Given the description of an element on the screen output the (x, y) to click on. 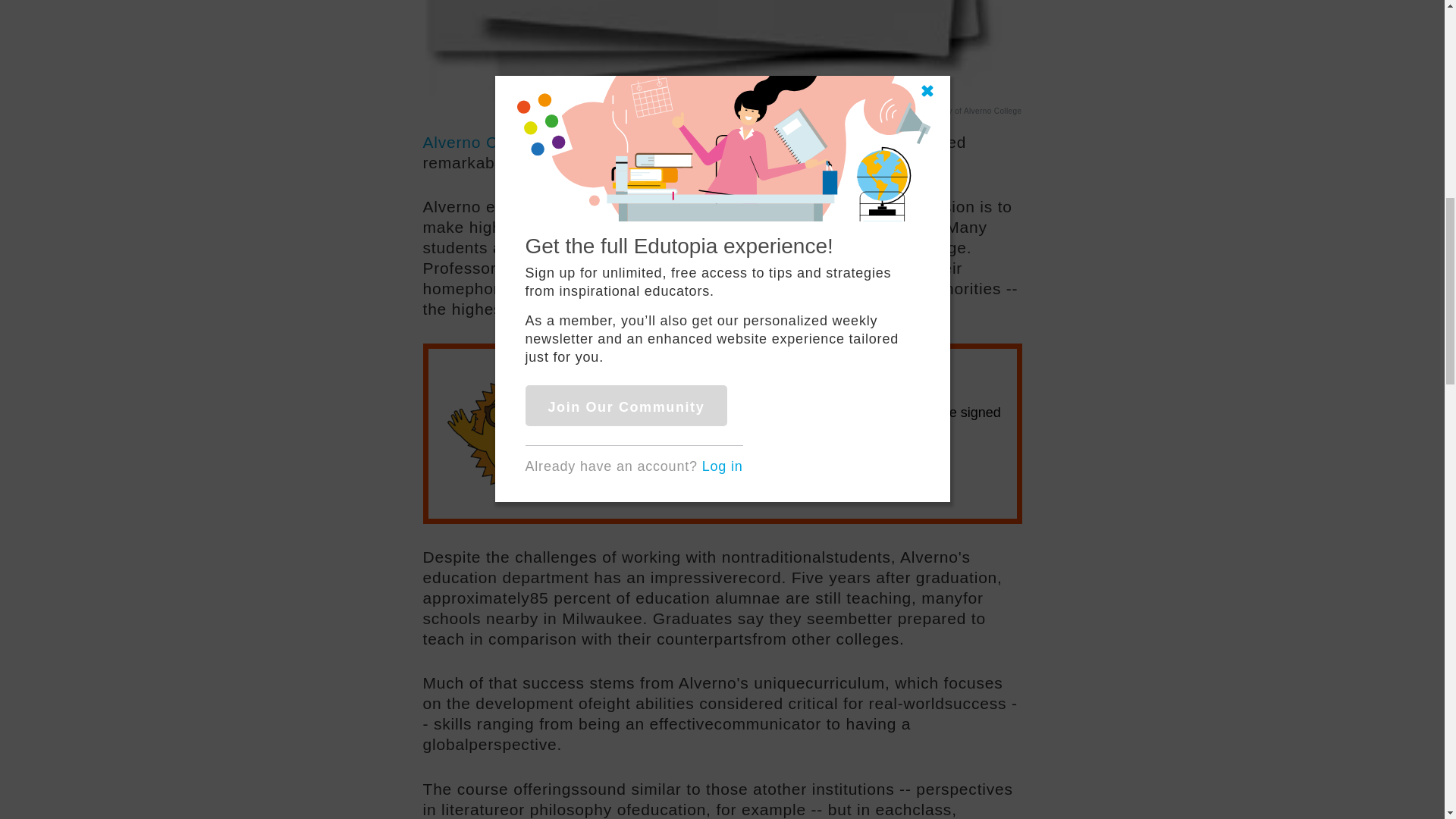
Sign me in (677, 480)
Alverno College (491, 141)
